Given the description of an element on the screen output the (x, y) to click on. 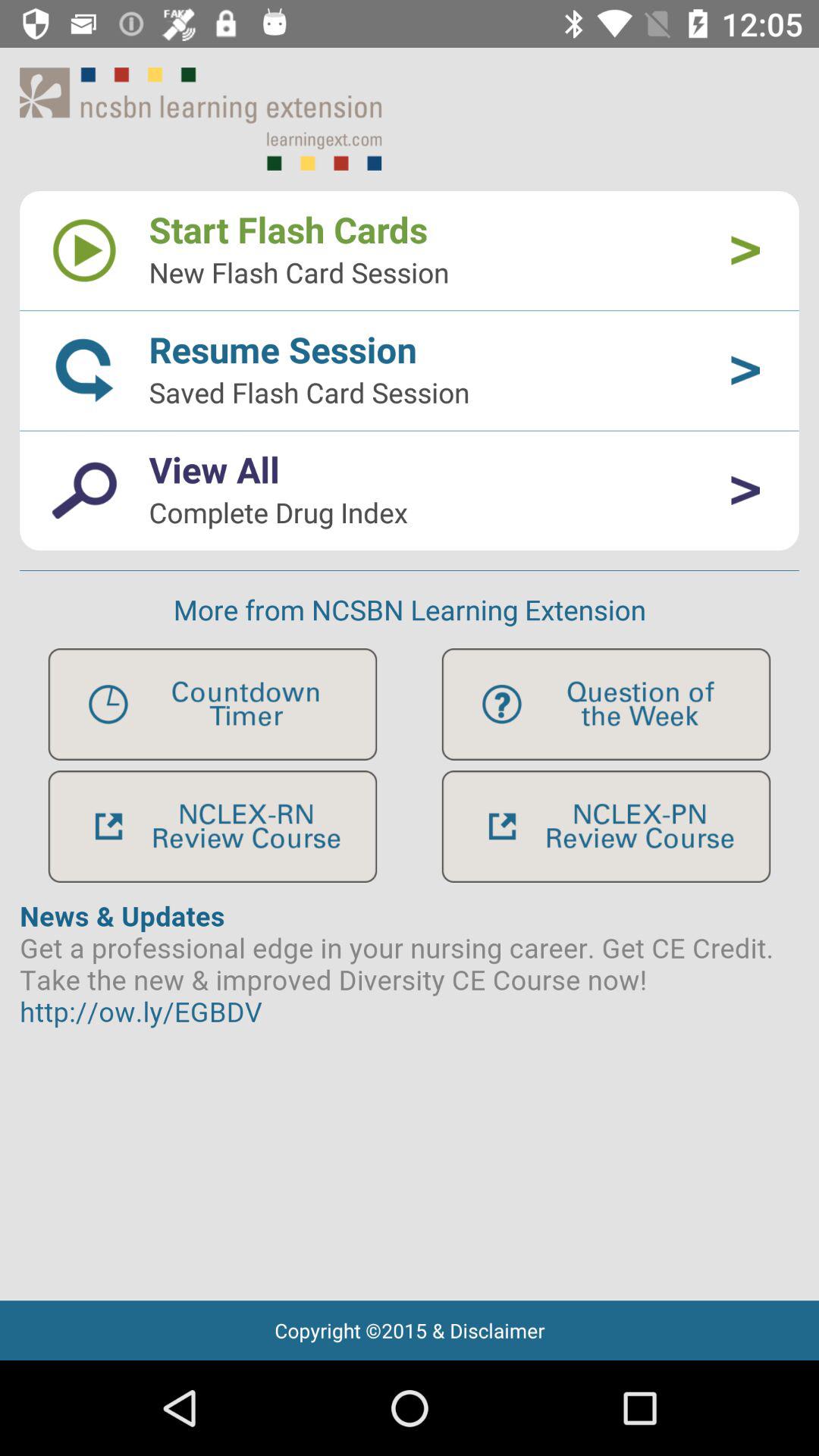
opens link in a new window (606, 826)
